Given the description of an element on the screen output the (x, y) to click on. 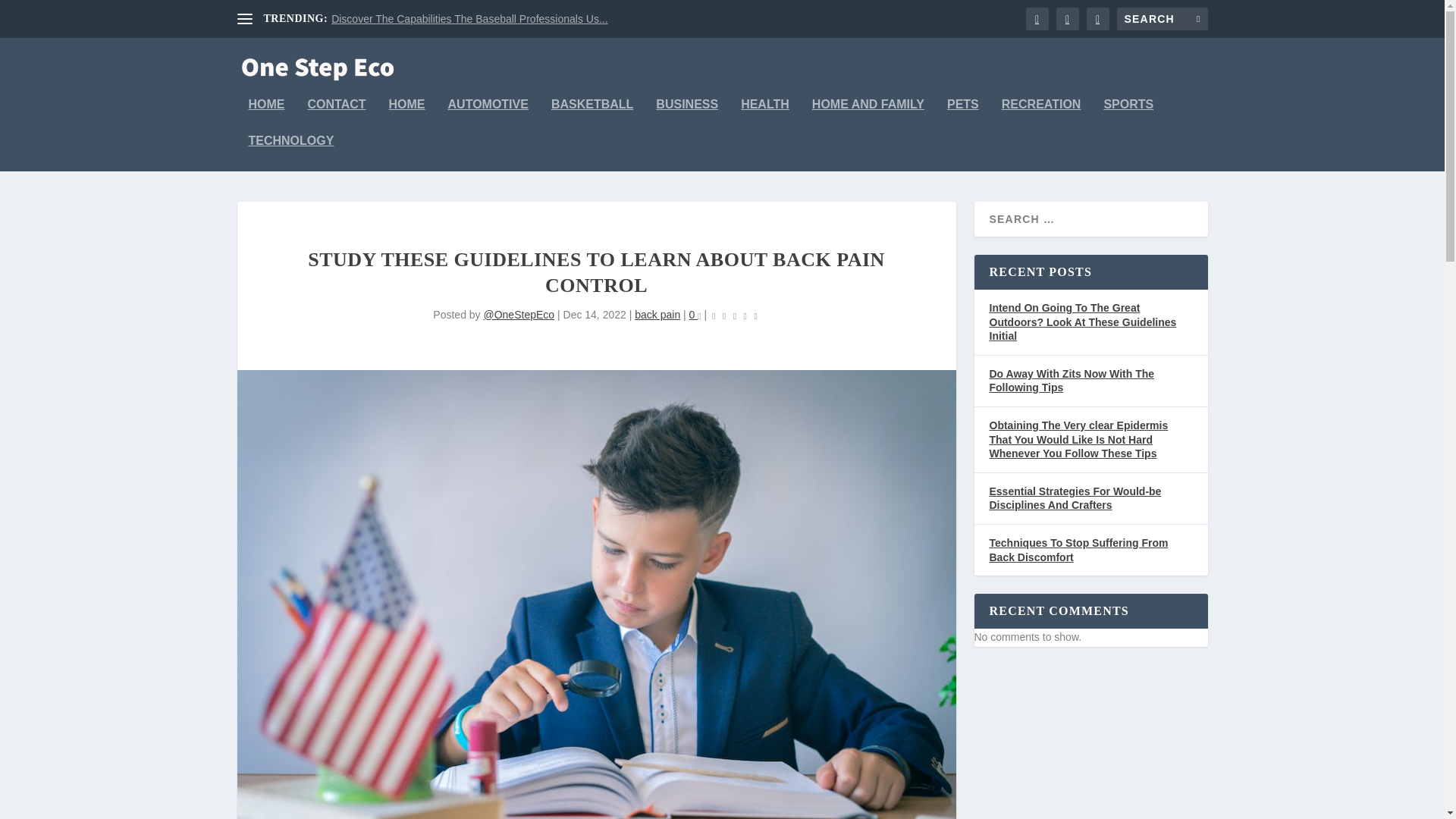
CONTACT (336, 116)
Rating: 0.00 (735, 315)
BUSINESS (686, 116)
HOME (266, 116)
HEALTH (765, 116)
BASKETBALL (592, 116)
Search for: (1161, 18)
RECREATION (1041, 116)
Discover The Capabilities The Baseball Professionals Us... (469, 19)
HOME AND FAMILY (868, 116)
HOME (406, 116)
AUTOMOTIVE (488, 116)
